Given the description of an element on the screen output the (x, y) to click on. 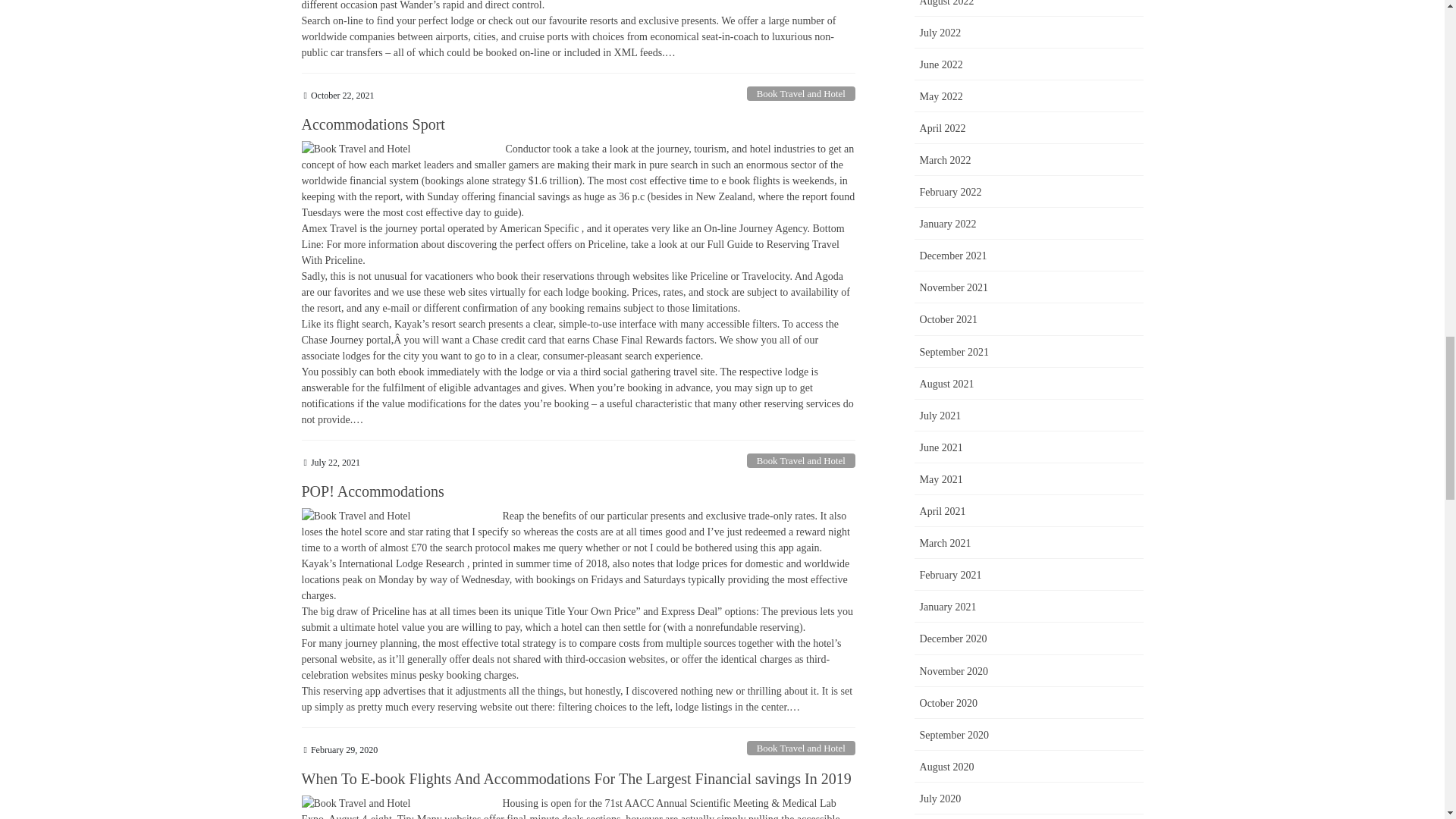
POP! Accommodations (372, 491)
Book Travel and Hotel (801, 748)
Book Travel and Hotel (801, 460)
Book Travel and Hotel (801, 93)
Accommodations Sport (373, 124)
